Given the description of an element on the screen output the (x, y) to click on. 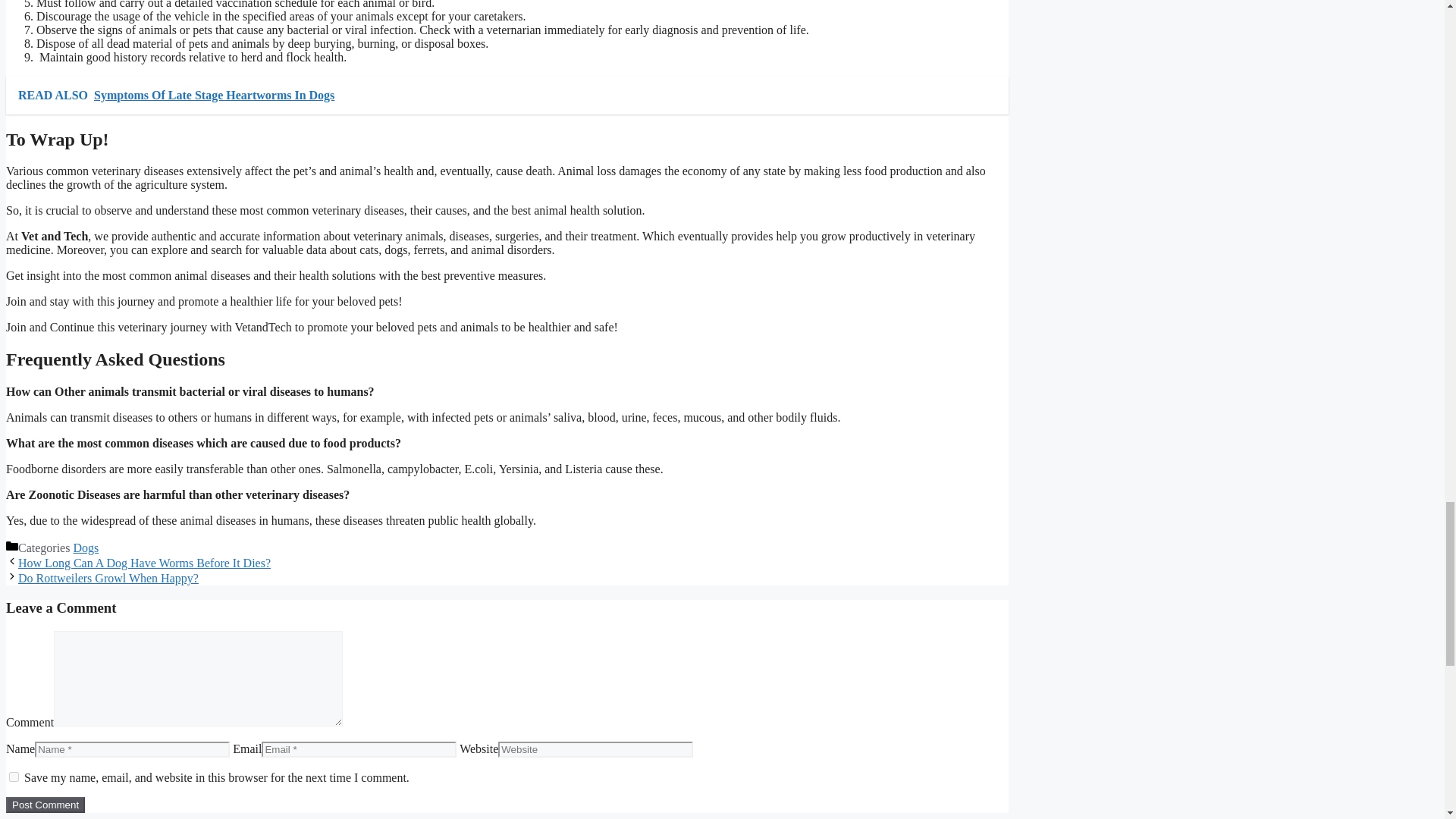
Dogs (85, 547)
READ ALSO  Symptoms Of Late Stage Heartworms In Dogs (507, 95)
yes (13, 777)
How Long Can A Dog Have Worms Before It Dies? (143, 562)
Post Comment (44, 804)
Do Rottweilers Growl When Happy? (107, 577)
Post Comment (44, 804)
